Given the description of an element on the screen output the (x, y) to click on. 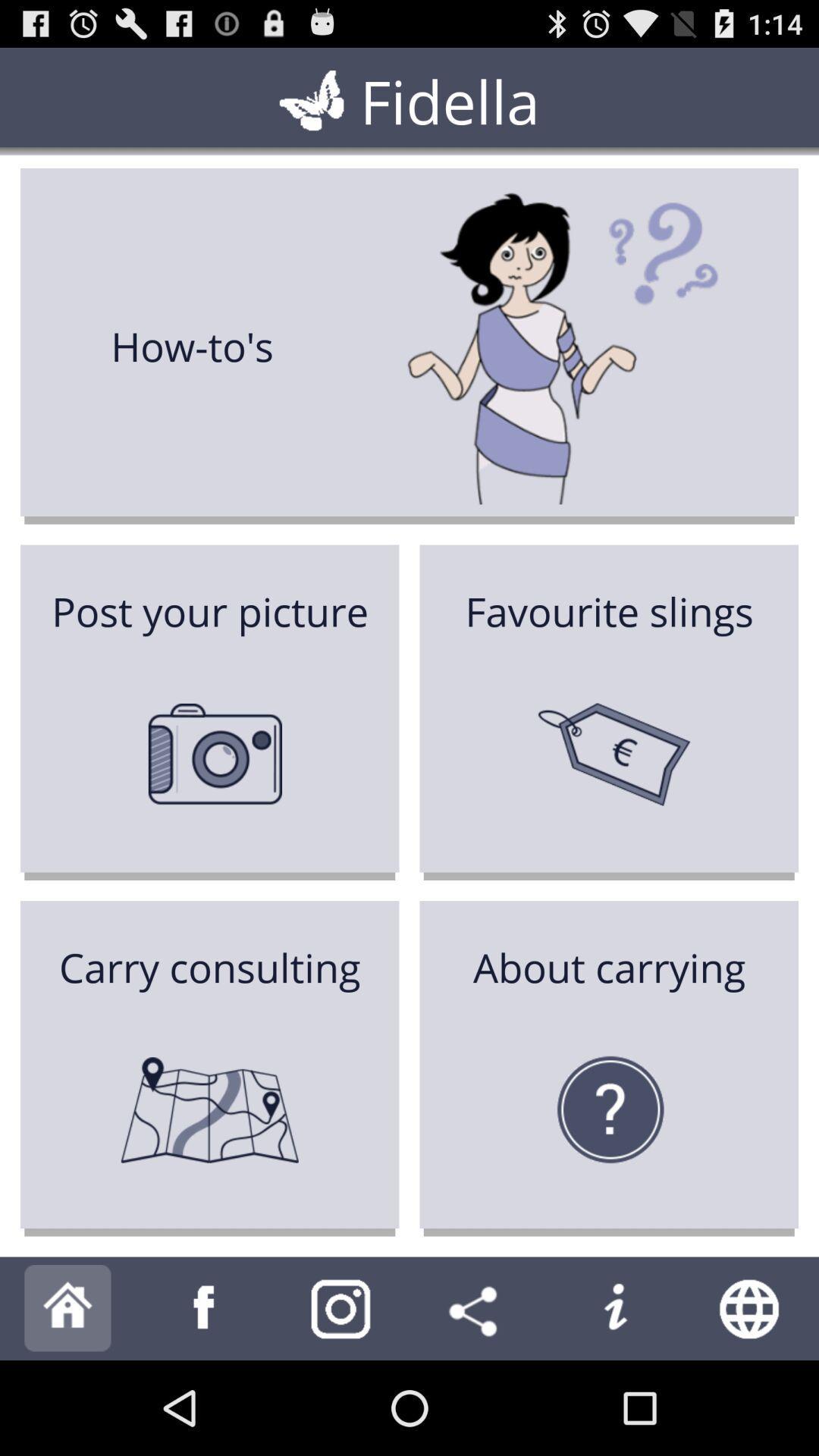
take photo (341, 1308)
